Given the description of an element on the screen output the (x, y) to click on. 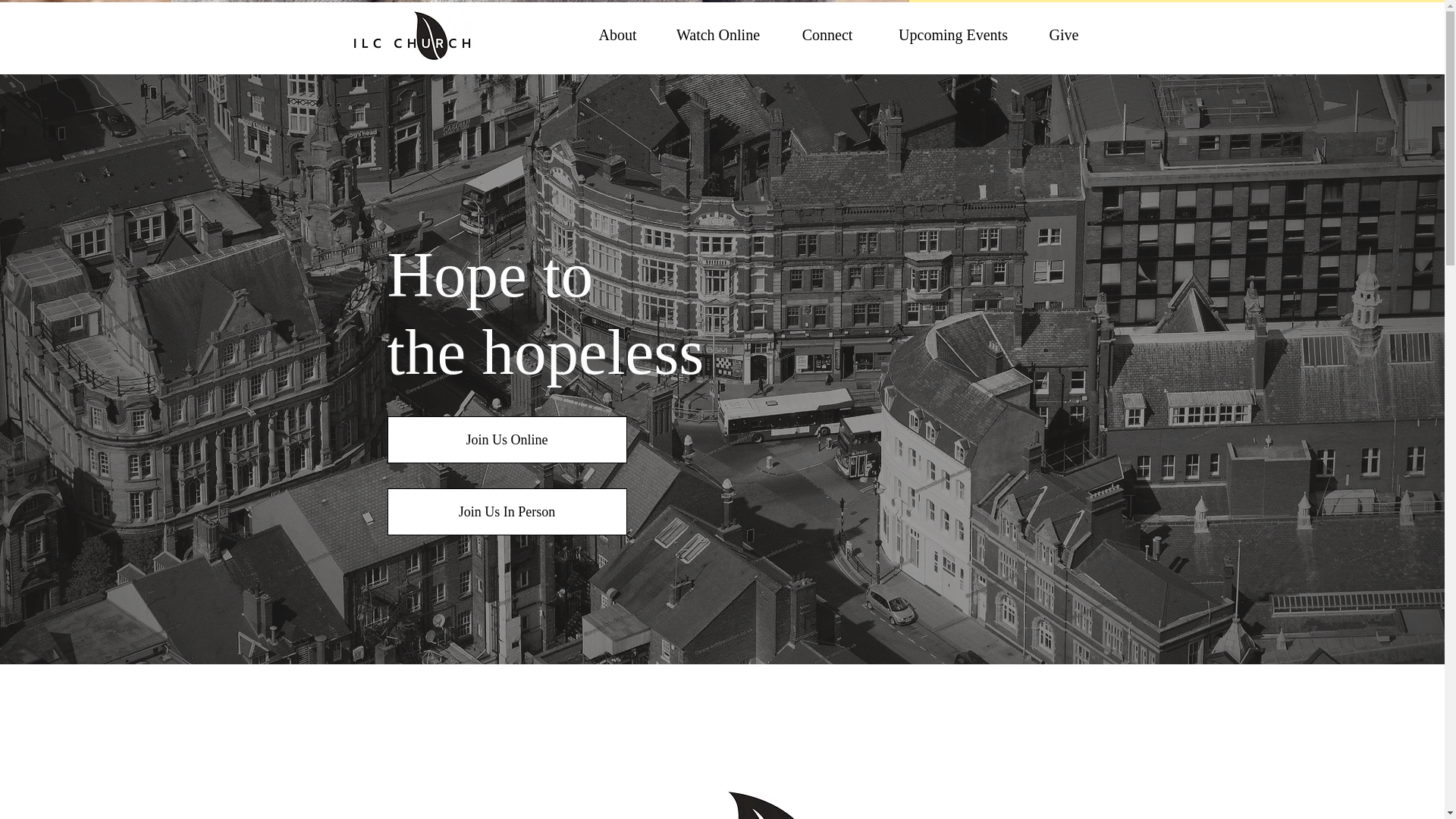
Join Us In Person (506, 511)
ILC Logo Sketch.jpg (723, 758)
Upcoming Events (952, 34)
Watch Online (717, 34)
ILC Logo Sketch.jpg (410, 34)
Give (1063, 34)
Join Us Online (506, 439)
